Given the description of an element on the screen output the (x, y) to click on. 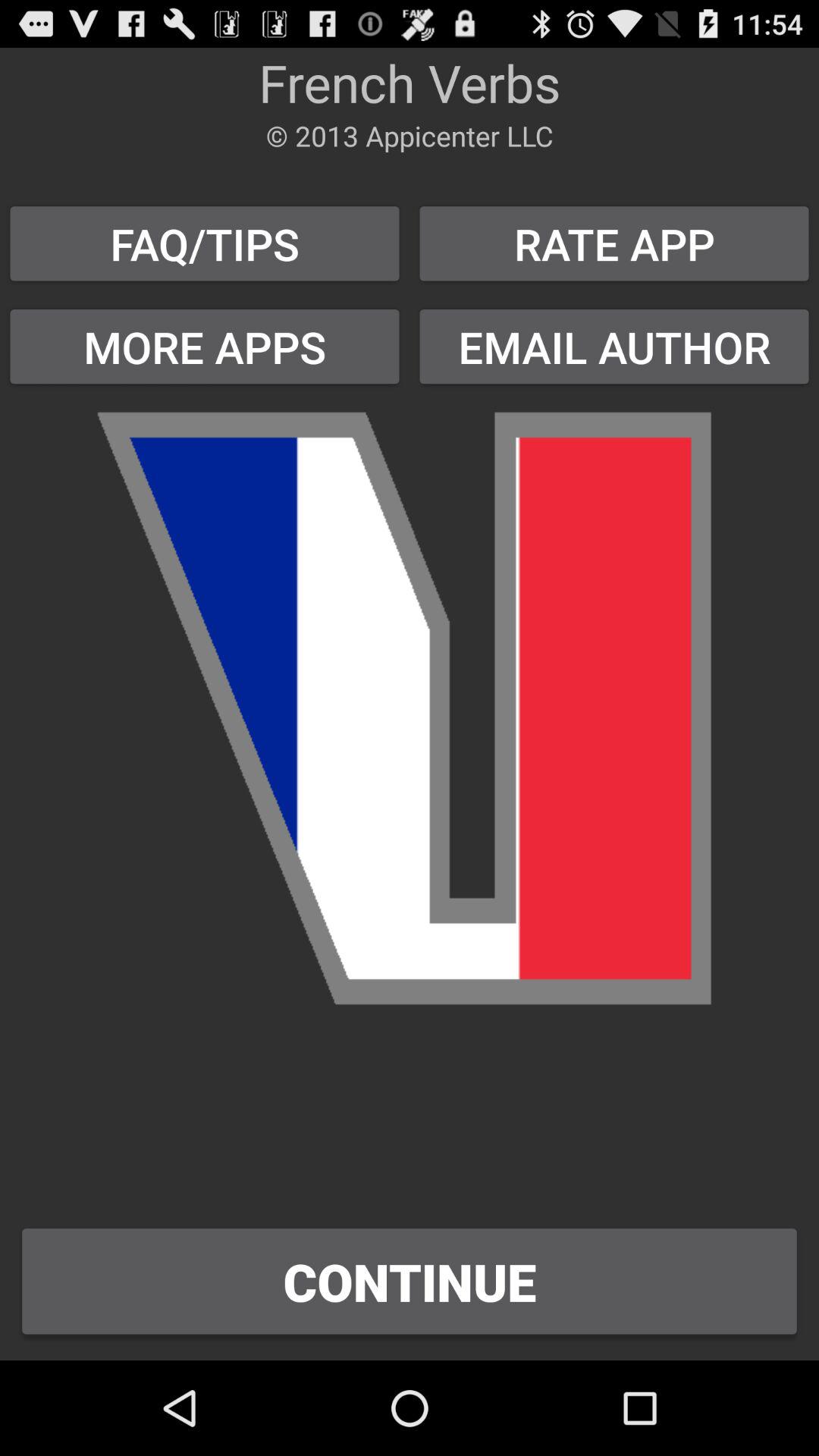
flip to the continue button (409, 1281)
